Given the description of an element on the screen output the (x, y) to click on. 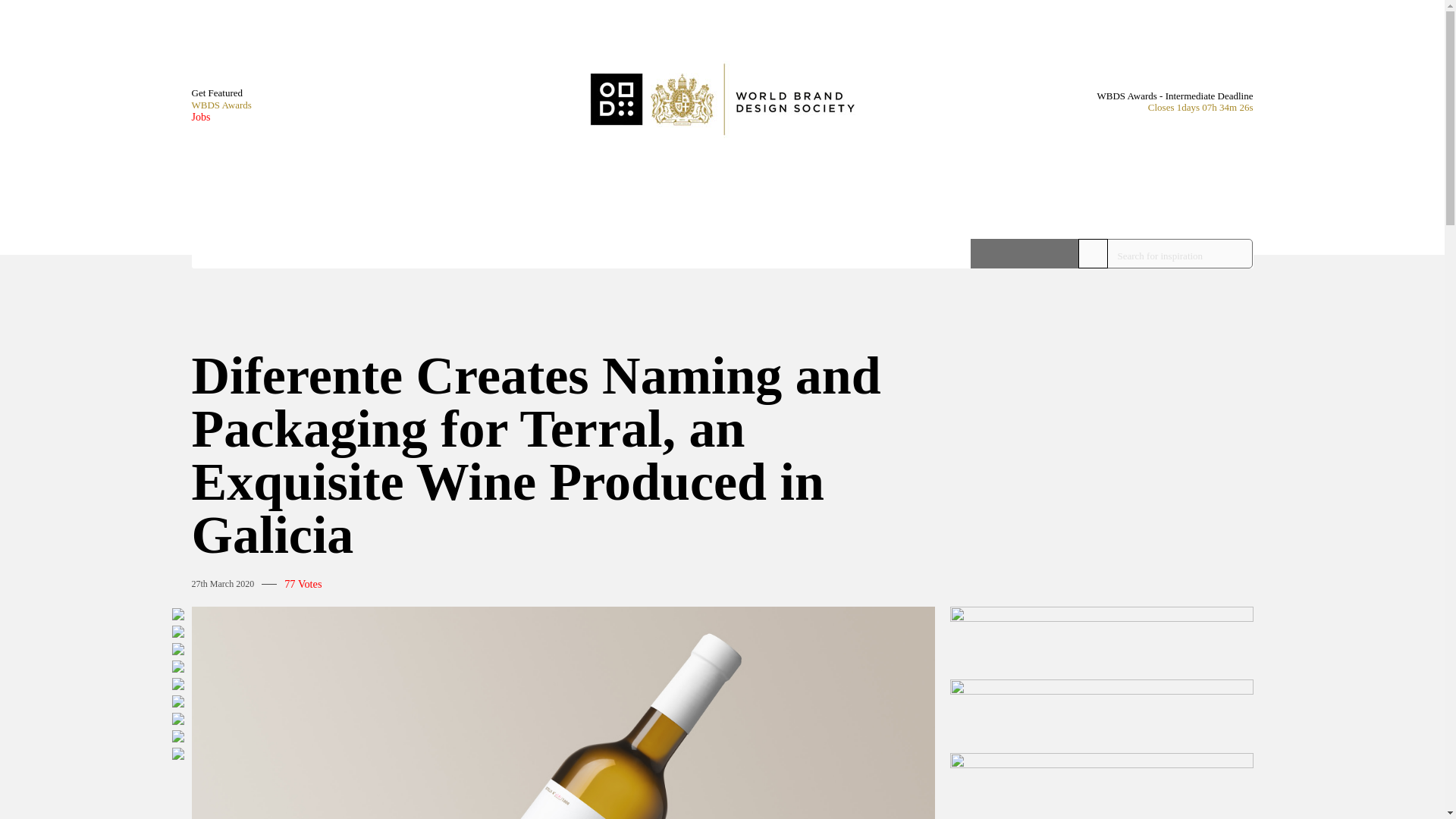
Search (1024, 253)
WBDS Awards (220, 104)
Search (1024, 253)
Jobs (220, 117)
Get Featured (220, 92)
